Given the description of an element on the screen output the (x, y) to click on. 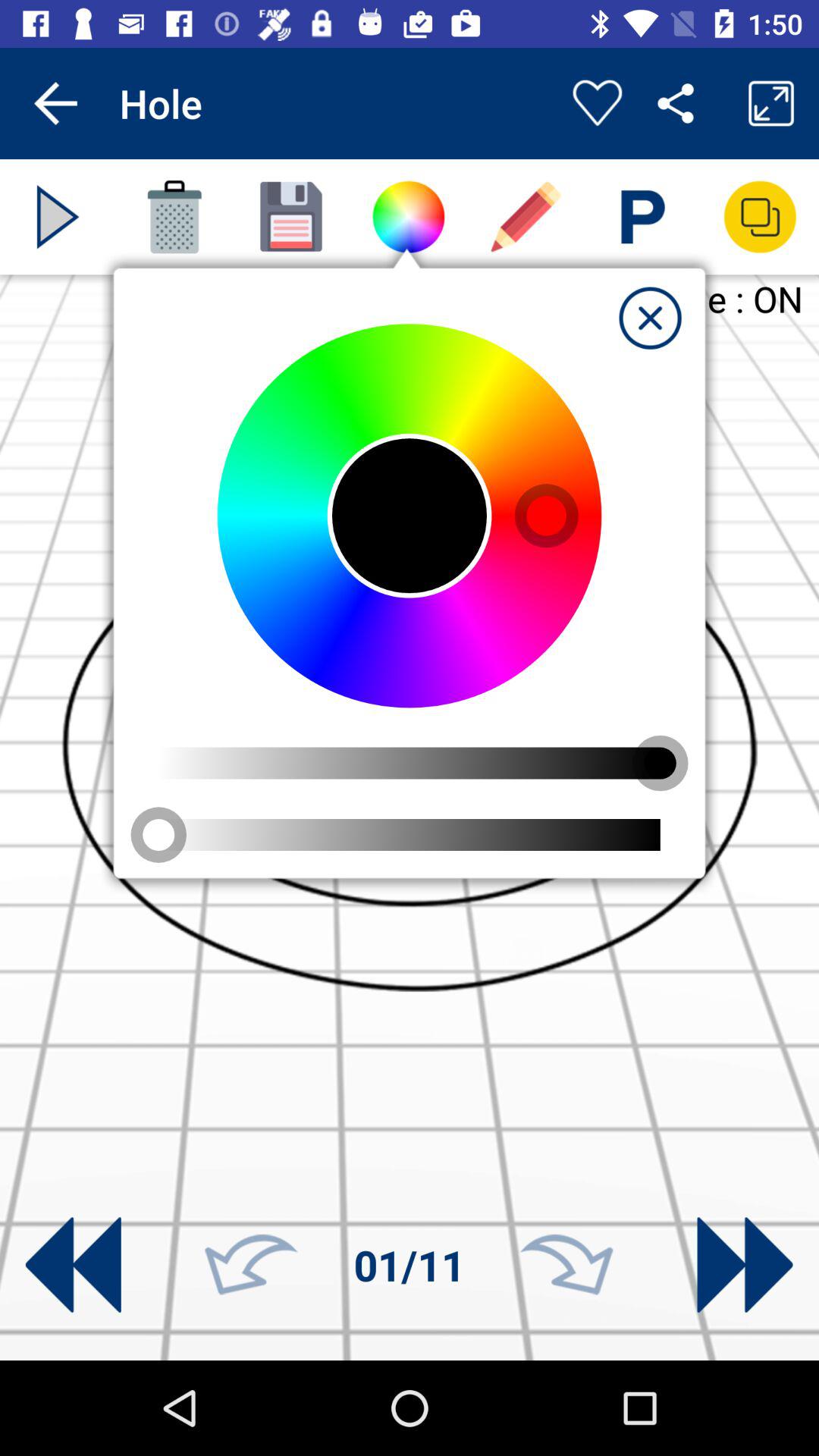
close the window (650, 318)
